Given the description of an element on the screen output the (x, y) to click on. 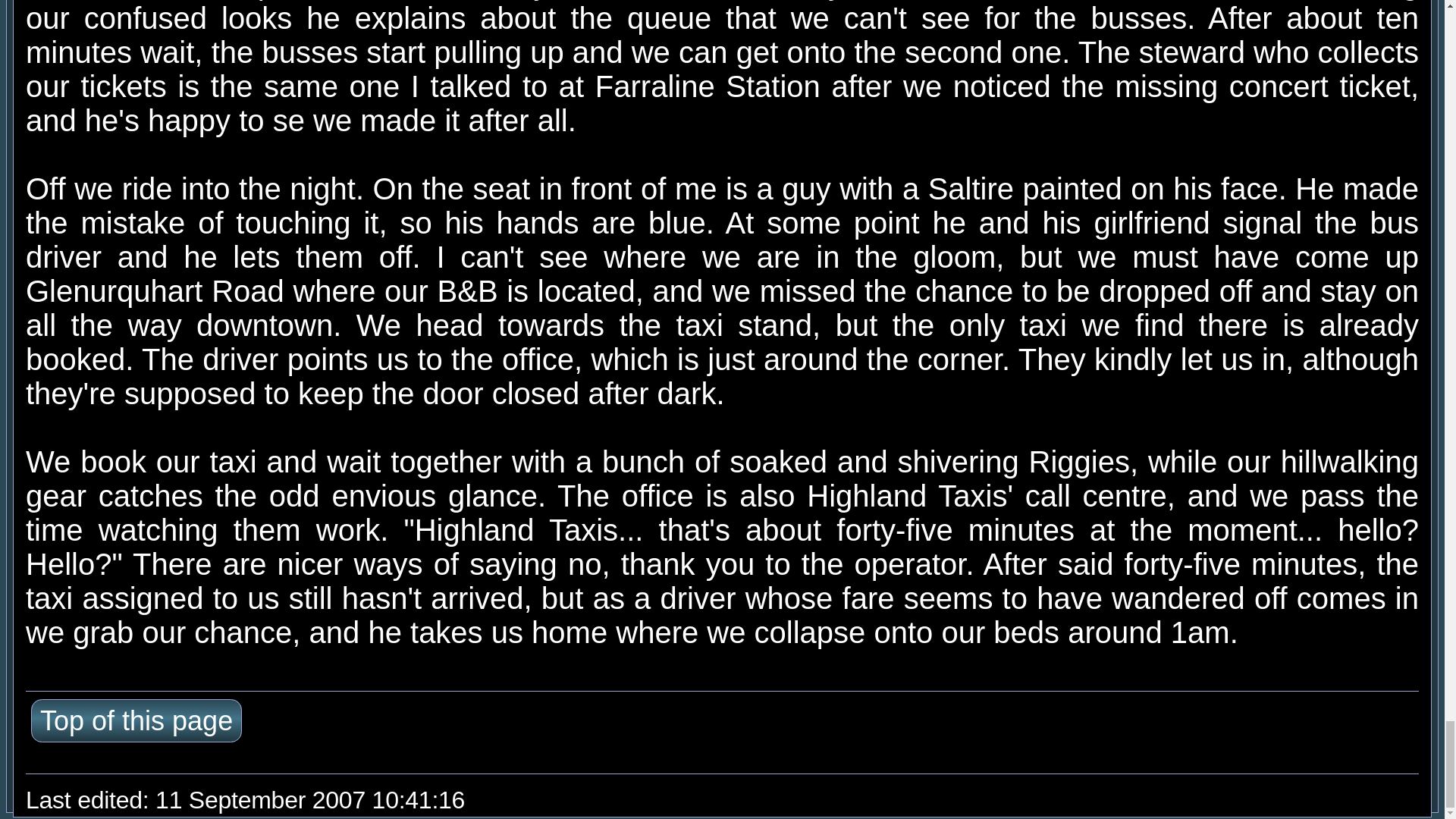
Top of this page (135, 720)
